Given the description of an element on the screen output the (x, y) to click on. 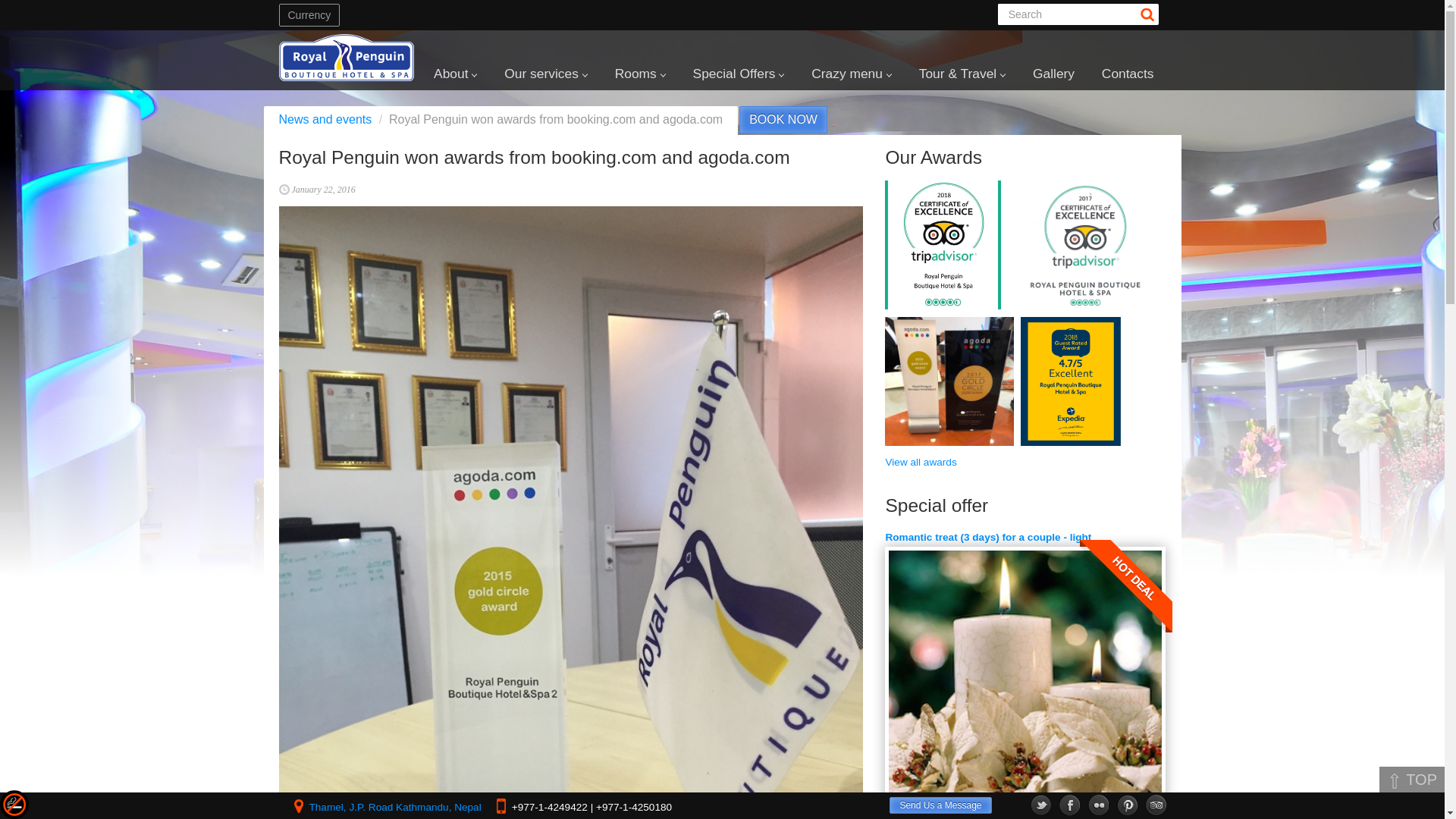
click-to-view-google-map (394, 807)
TripAdvisor Award 2017 (942, 244)
TripAdvisor Award 2017 (1085, 244)
Currency (309, 15)
Thamel, J.P. Road Kathmandu, Nepal (394, 807)
Agoda Golden Circle Award 2017 (949, 380)
